Given the description of an element on the screen output the (x, y) to click on. 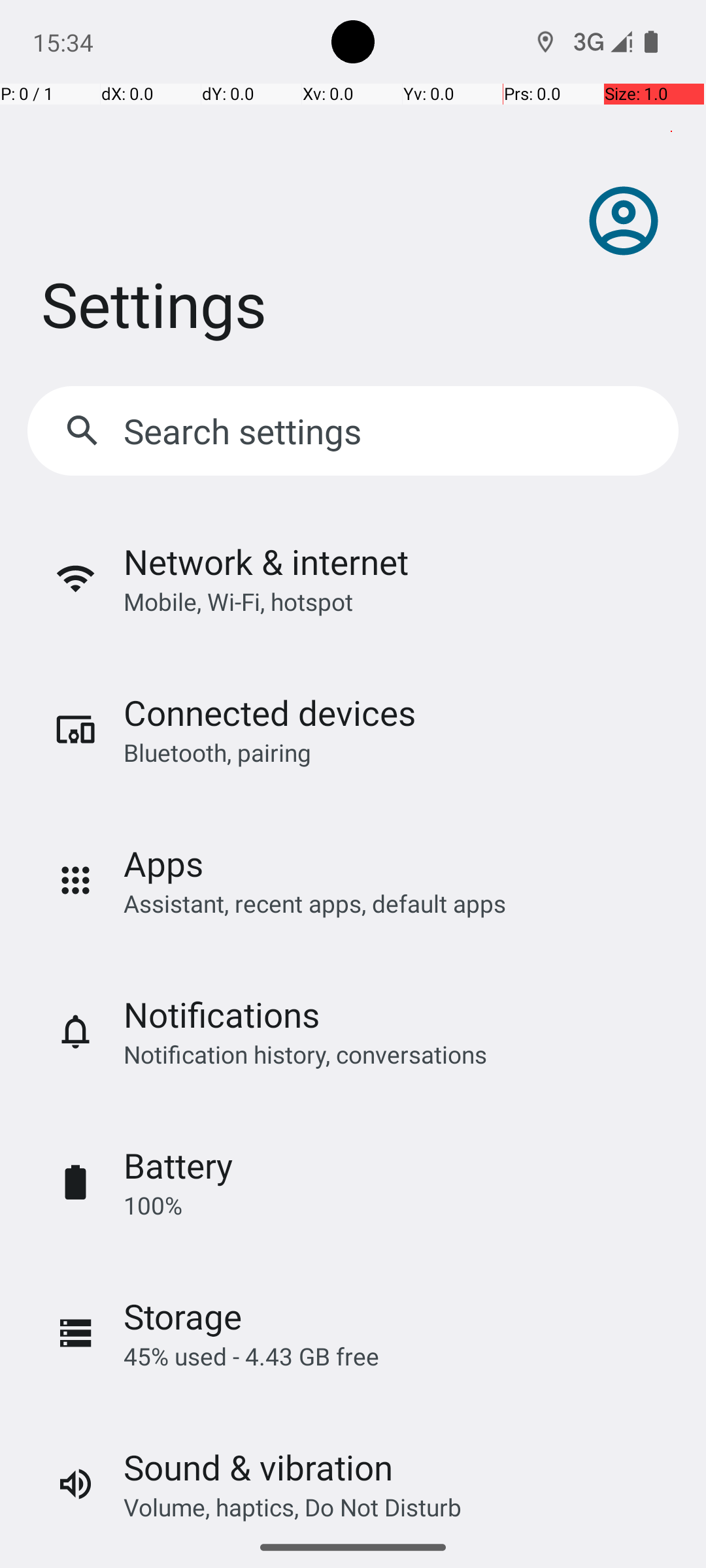
45% used - 4.43 GB free Element type: android.widget.TextView (251, 1355)
